Given the description of an element on the screen output the (x, y) to click on. 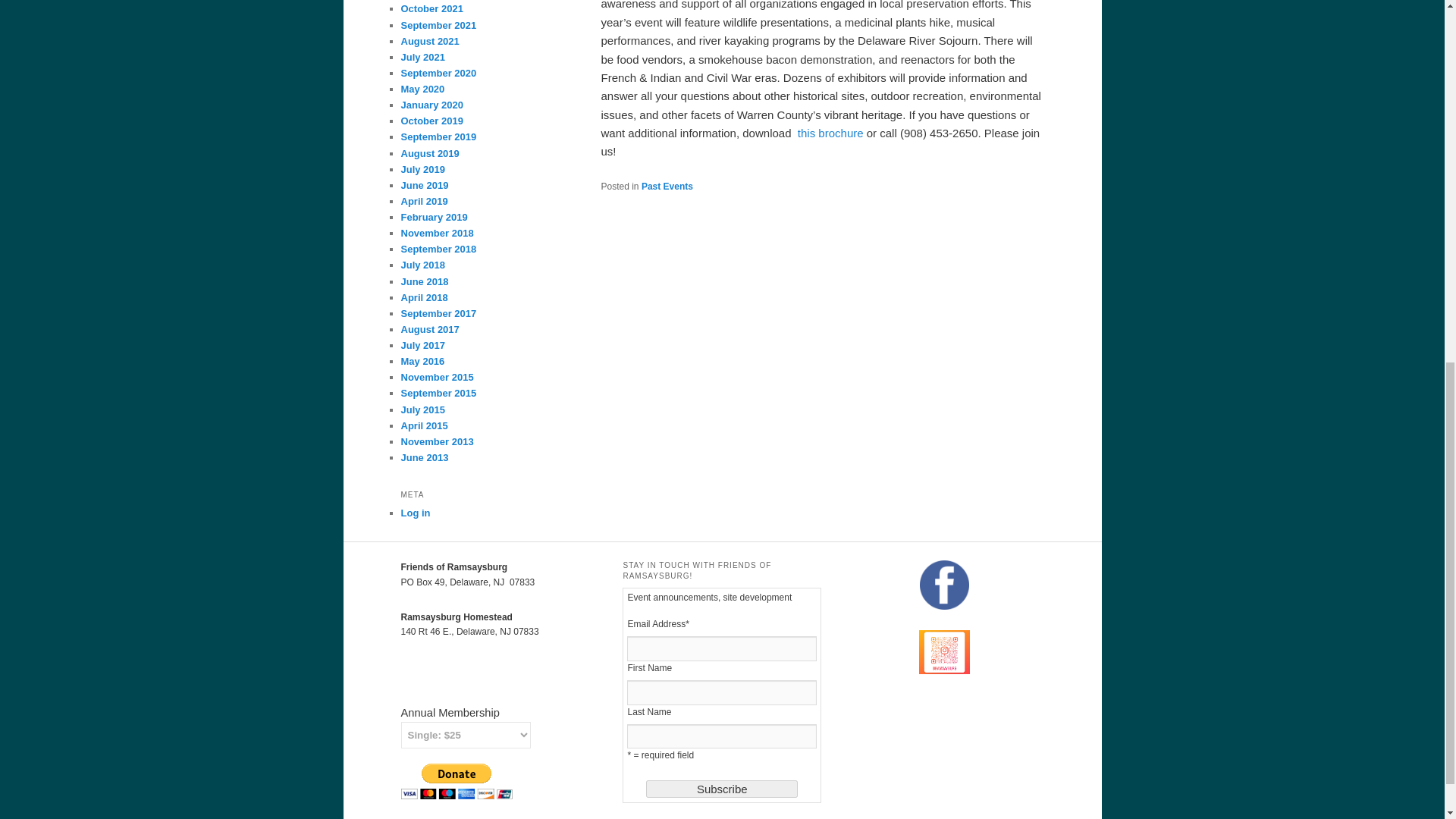
Past Events (667, 185)
this brochure (830, 132)
October 2021 (431, 8)
Subscribe (721, 788)
